Given the description of an element on the screen output the (x, y) to click on. 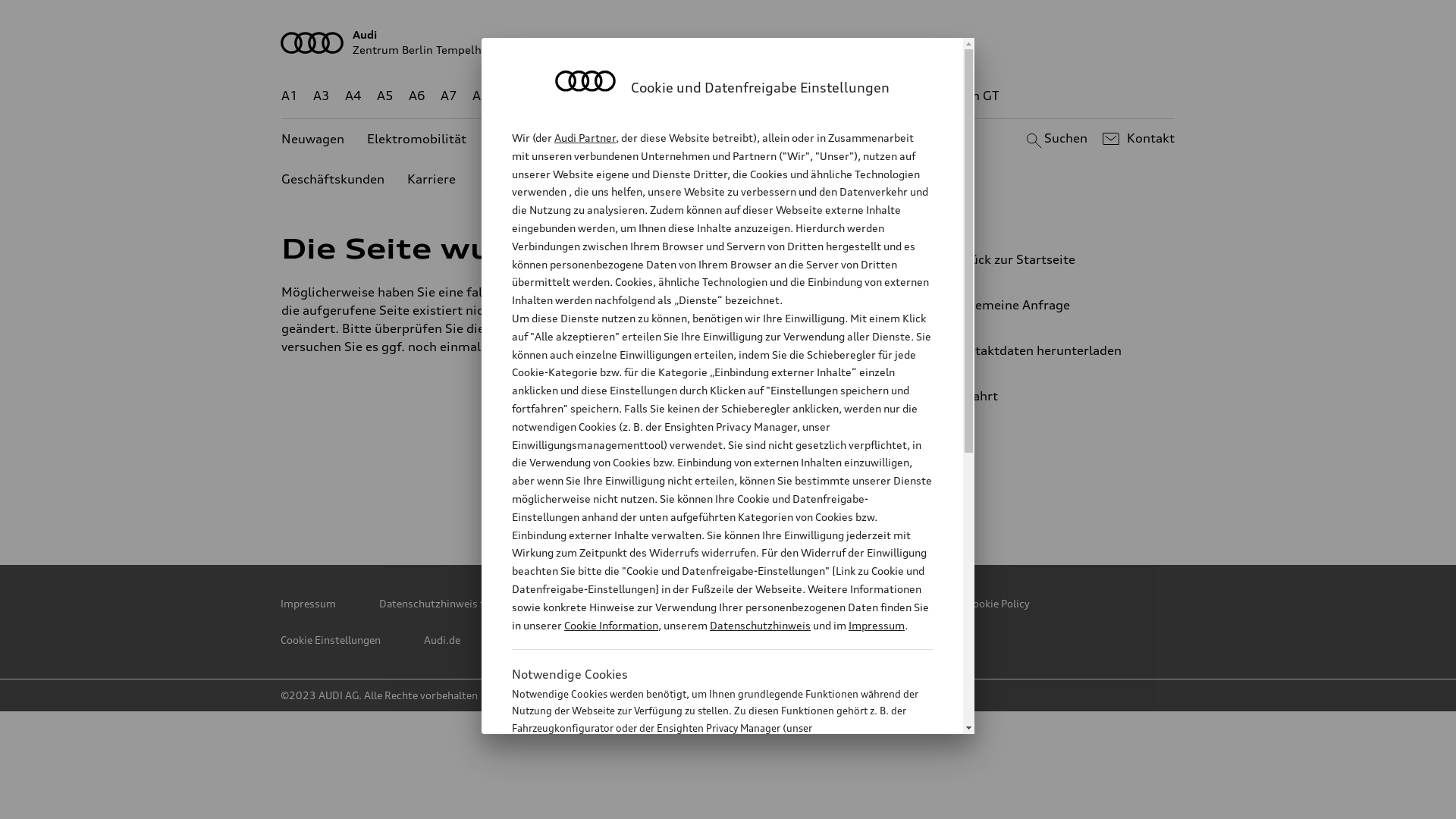
Angebote Element type: text (517, 139)
Facebook Element type: hover (663, 492)
Anfahrt Element type: text (1049, 395)
Datenschutzhinweis Element type: text (759, 624)
Kontakt Element type: text (1135, 138)
Q2 Element type: text (512, 95)
Instagram Element type: hover (796, 492)
Q8 Element type: text (715, 95)
Allgemeine Anfrage Element type: text (1043, 304)
Kundenservice Element type: text (732, 139)
A3 Element type: text (321, 95)
Copyright & Haftungsausschluss Element type: text (844, 603)
Konfigurieren auf audi.de Element type: text (563, 639)
A6 Element type: text (416, 95)
Q7 Element type: text (683, 95)
A7 Element type: text (448, 95)
g-tron Element type: text (908, 95)
Cookie Information Element type: text (705, 802)
A1 Element type: text (289, 95)
Cookie Einstellungen Element type: text (330, 639)
Q8 e-tron Element type: text (768, 95)
Kontaktdaten herunterladen Element type: text (1043, 350)
TT Element type: text (820, 95)
Q5 Element type: text (650, 95)
Neuwagen Element type: text (312, 139)
Karriere Element type: text (431, 179)
Impressum Element type: text (876, 624)
Q3 Element type: text (545, 95)
Suchen Element type: text (1054, 138)
Q4 e-tron Element type: text (598, 95)
YouTube Element type: hover (730, 492)
Audi
Zentrum Berlin Tempelhof Element type: text (727, 42)
e-tron GT Element type: text (970, 95)
Cookie Policy Element type: text (997, 603)
A4 Element type: text (353, 95)
RS Element type: text (866, 95)
Audi on demand Element type: text (617, 139)
Cookie Information Element type: text (611, 624)
A8 Element type: text (480, 95)
Rechtliches Element type: text (693, 603)
Impressum Element type: text (307, 603)
Audi Partner Element type: text (584, 137)
Audi.de Element type: text (441, 639)
A5 Element type: text (384, 95)
